Given the description of an element on the screen output the (x, y) to click on. 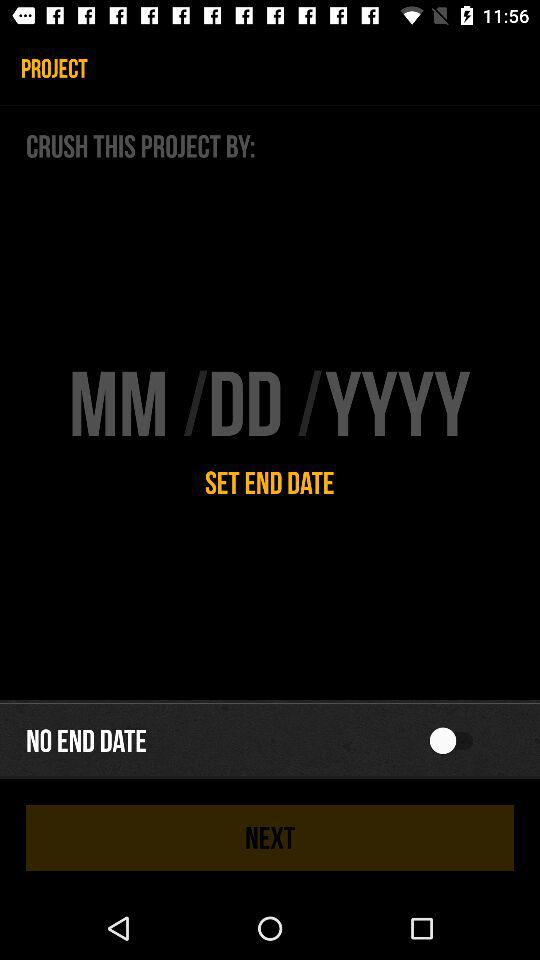
choose the icon below the no end date item (270, 837)
